Given the description of an element on the screen output the (x, y) to click on. 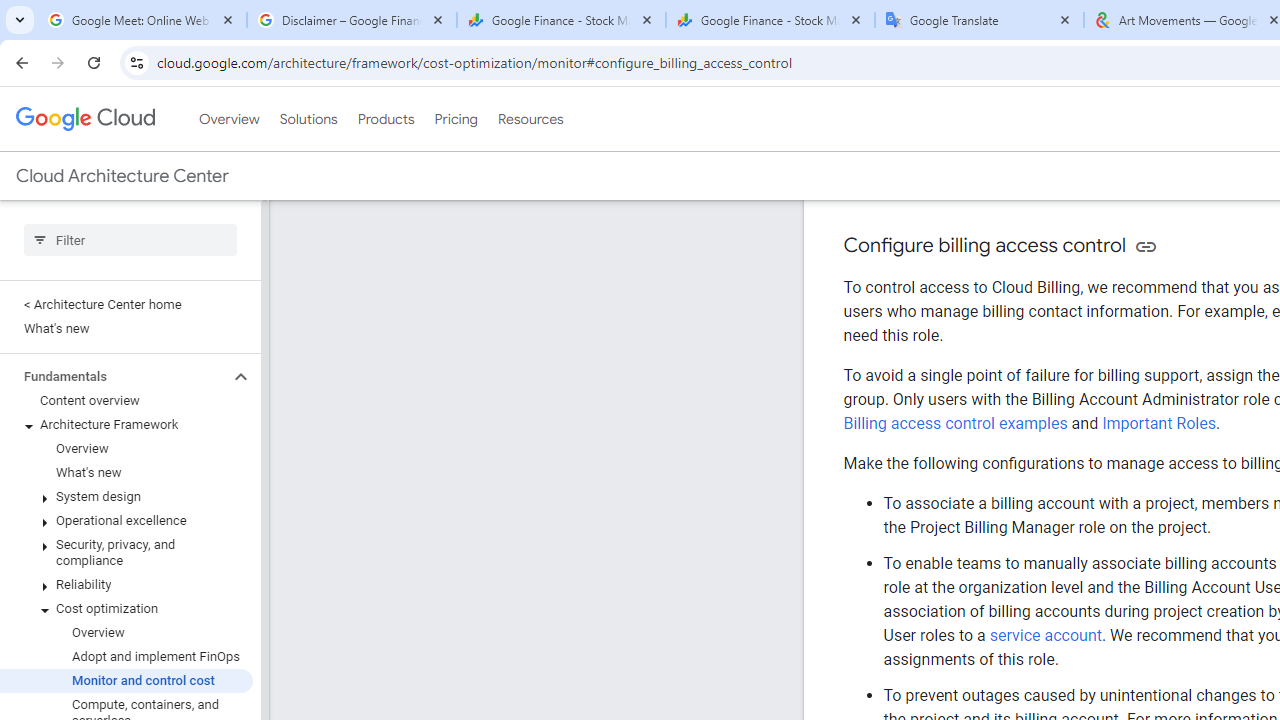
Fundamentals (114, 376)
Products (385, 119)
service account (1045, 635)
Operational excellence (126, 520)
Reliability (126, 584)
What's new (126, 472)
Security, privacy, and compliance (126, 552)
Google Cloud (84, 118)
